Given the description of an element on the screen output the (x, y) to click on. 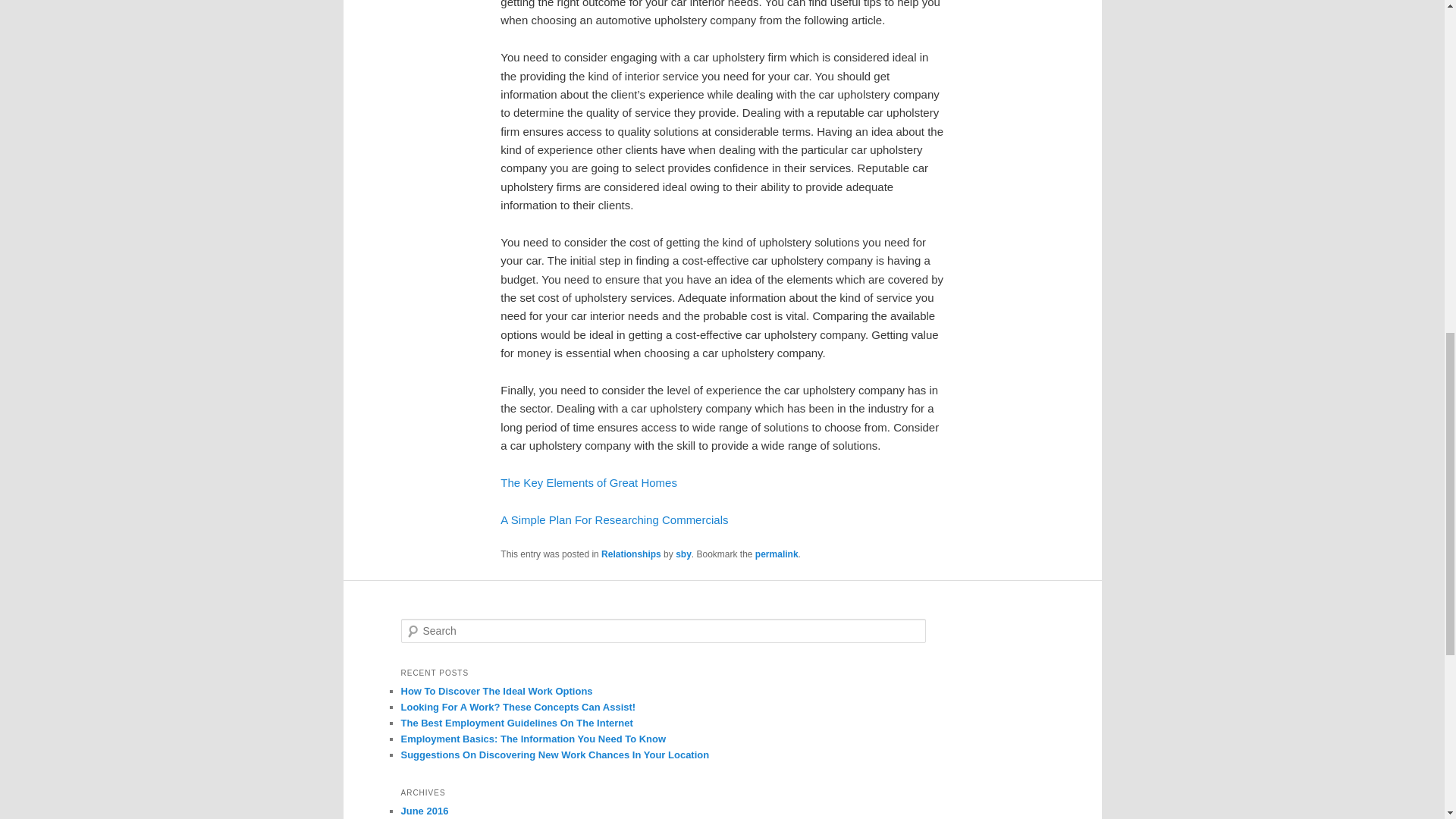
A Simple Plan For Researching Commercials (614, 519)
Relationships (631, 553)
Looking For A Work? These Concepts Can Assist! (517, 706)
sby (683, 553)
How To Discover The Ideal Work Options (496, 690)
Permalink to Understanding Homes (776, 553)
permalink (776, 553)
Suggestions On Discovering New Work Chances In Your Location (554, 754)
The Key Elements of Great Homes (588, 481)
The Best Employment Guidelines On The Internet (515, 722)
Employment Basics: The Information You Need To Know (532, 738)
June 2016 (424, 810)
